Given the description of an element on the screen output the (x, y) to click on. 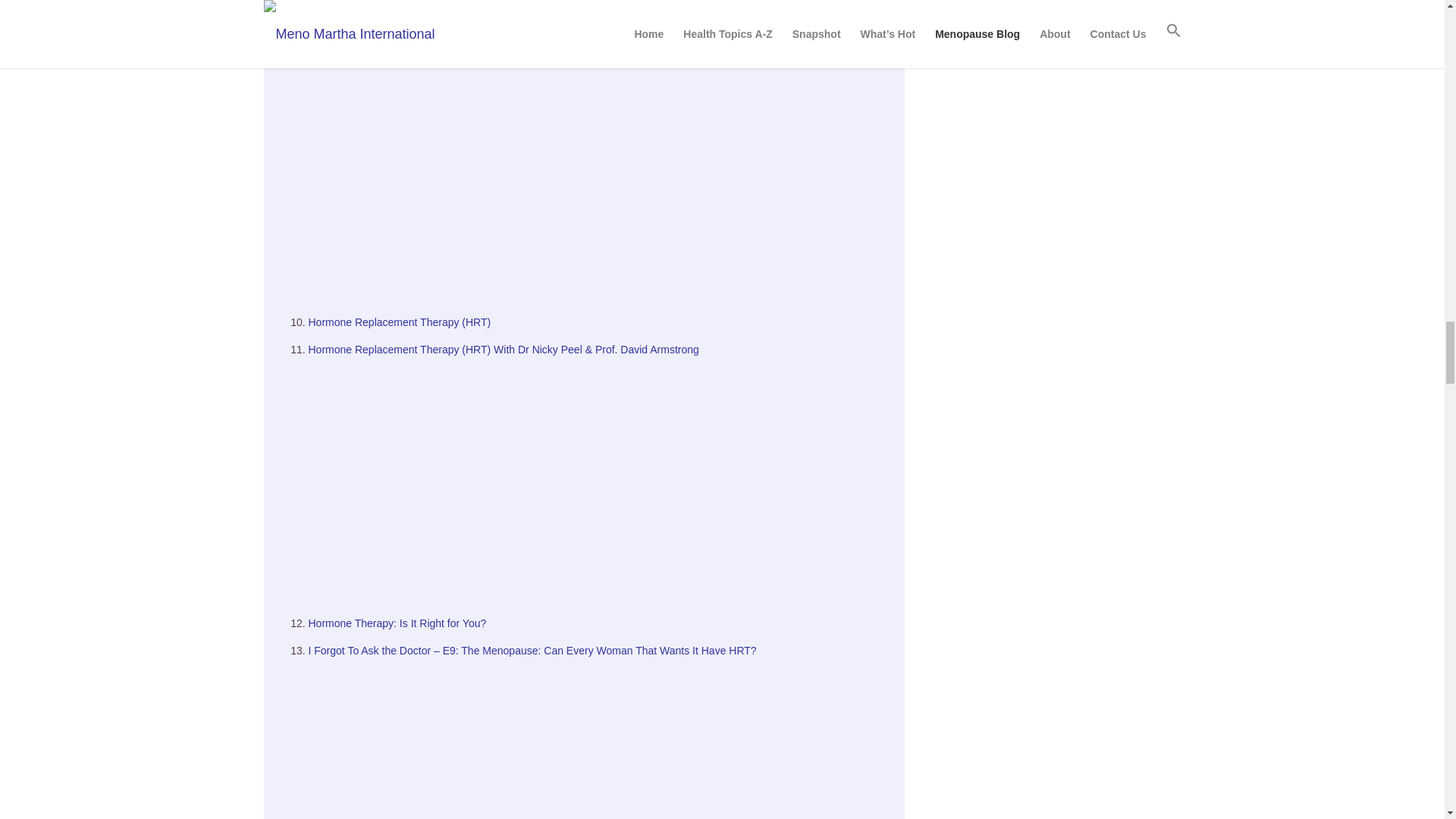
YouTube video player (597, 12)
YouTube video player (597, 179)
YouTube video player (597, 740)
YouTube video player (597, 480)
